Given the description of an element on the screen output the (x, y) to click on. 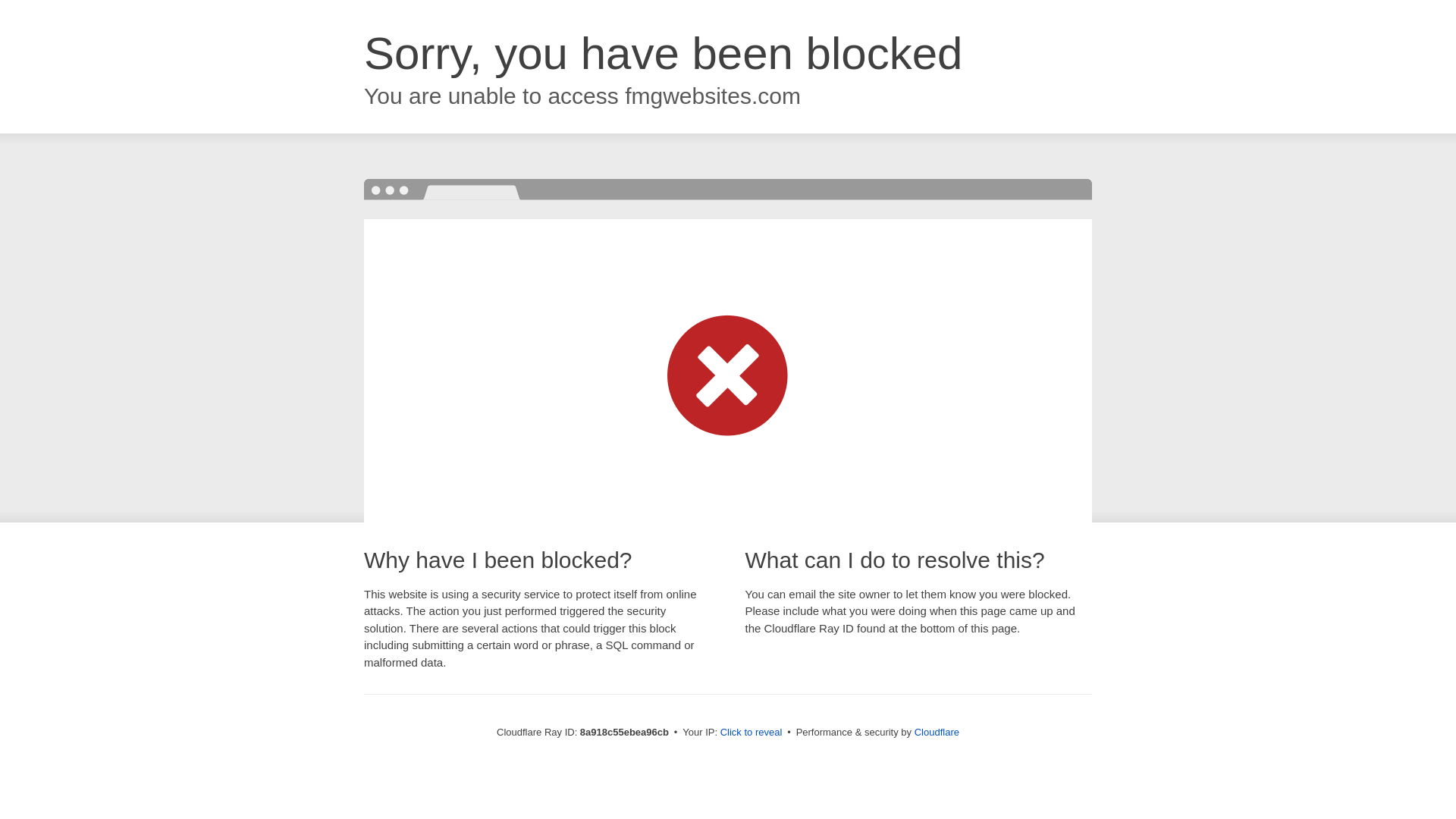
Cloudflare (936, 731)
Click to reveal (751, 732)
